Given the description of an element on the screen output the (x, y) to click on. 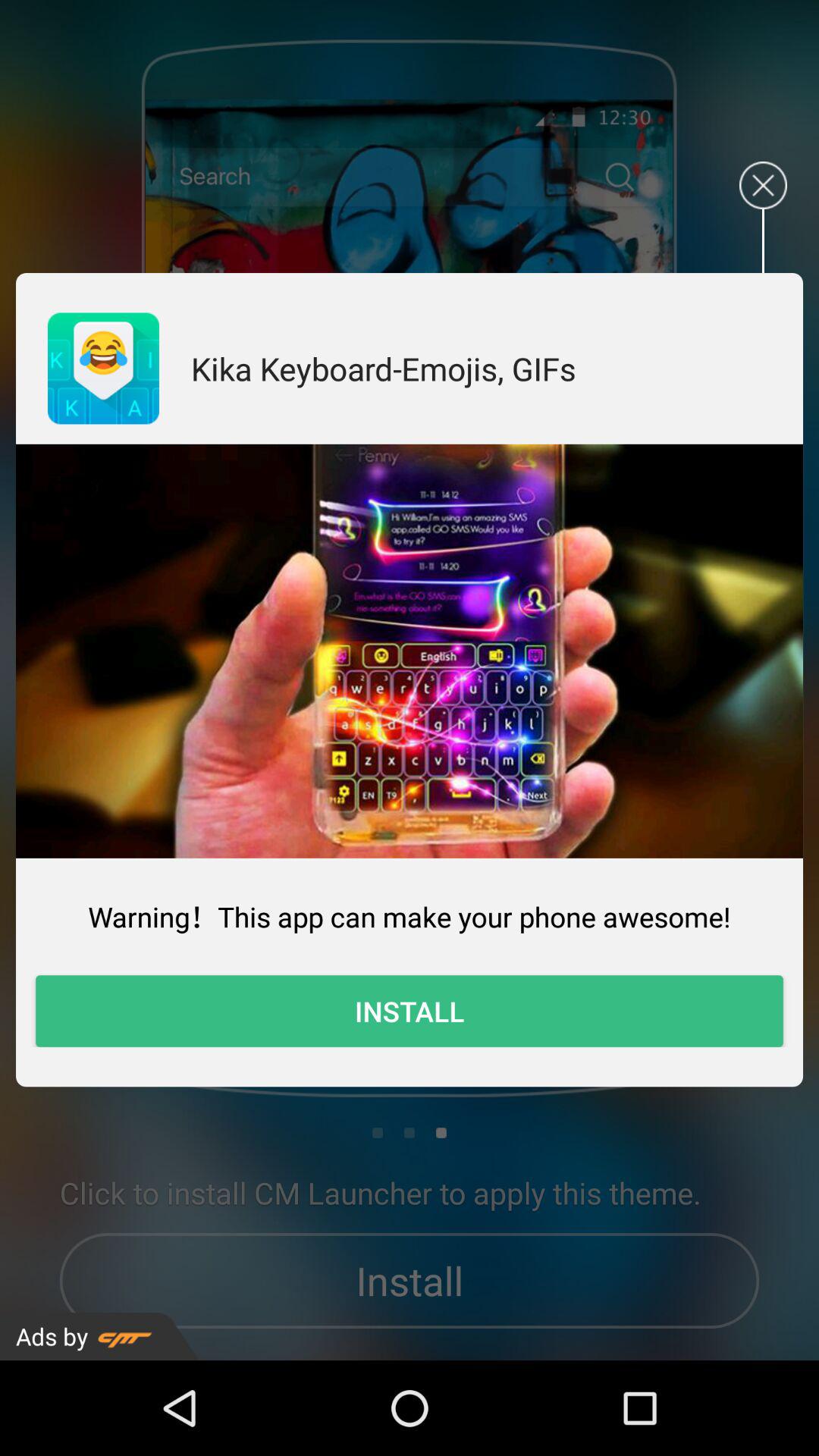
flip to kika keyboard emojis item (383, 368)
